Given the description of an element on the screen output the (x, y) to click on. 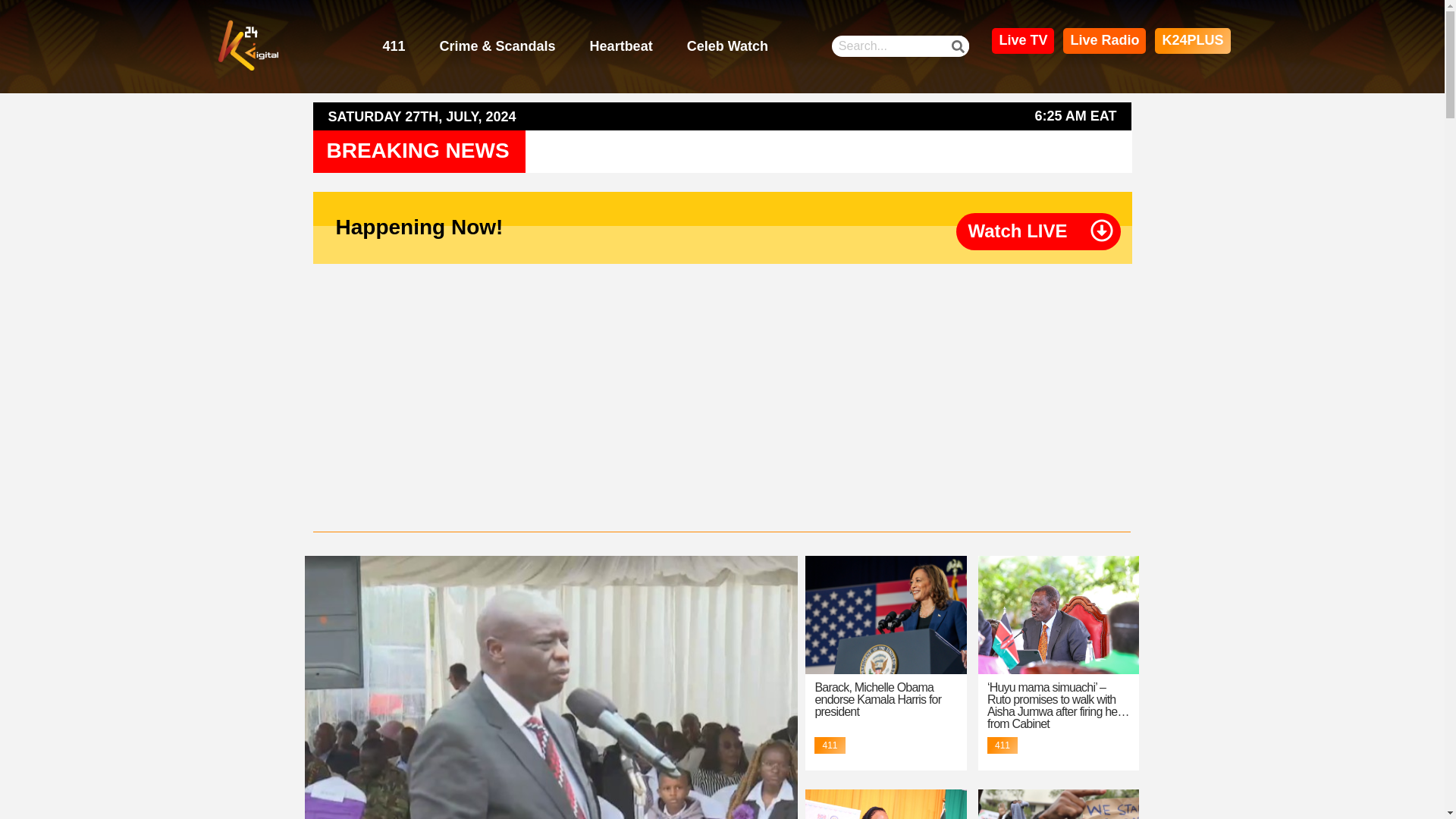
K24PLUS (1192, 40)
Heartbeat (620, 46)
Barack, Michelle Obama endorse Kamala Harris for president (876, 699)
Live TV (1022, 40)
Live Radio (1103, 40)
Celeb Watch (727, 46)
Watch LIVE (1017, 230)
411 (392, 46)
